Given the description of an element on the screen output the (x, y) to click on. 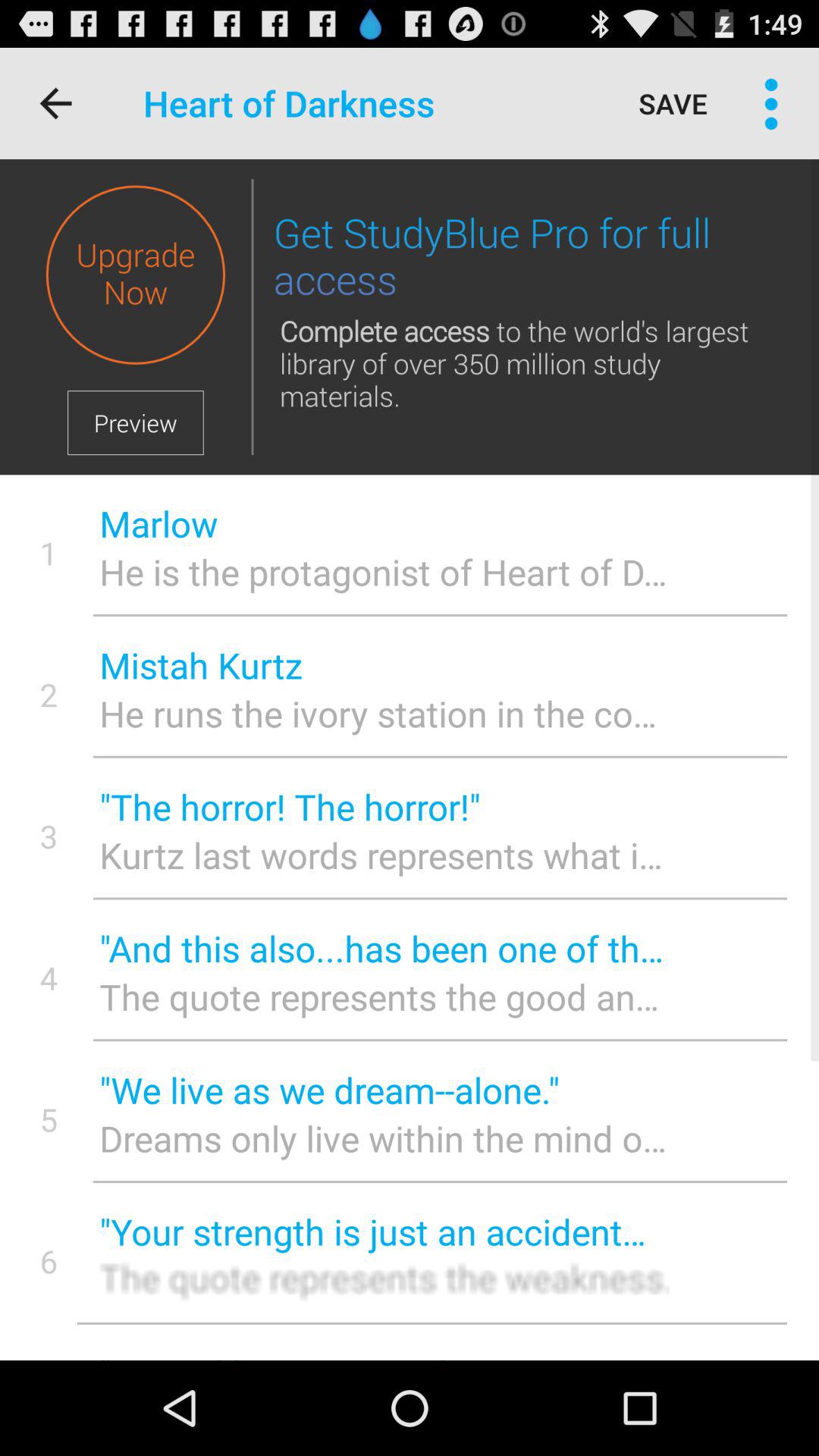
click the item below we live as item (384, 1138)
